Given the description of an element on the screen output the (x, y) to click on. 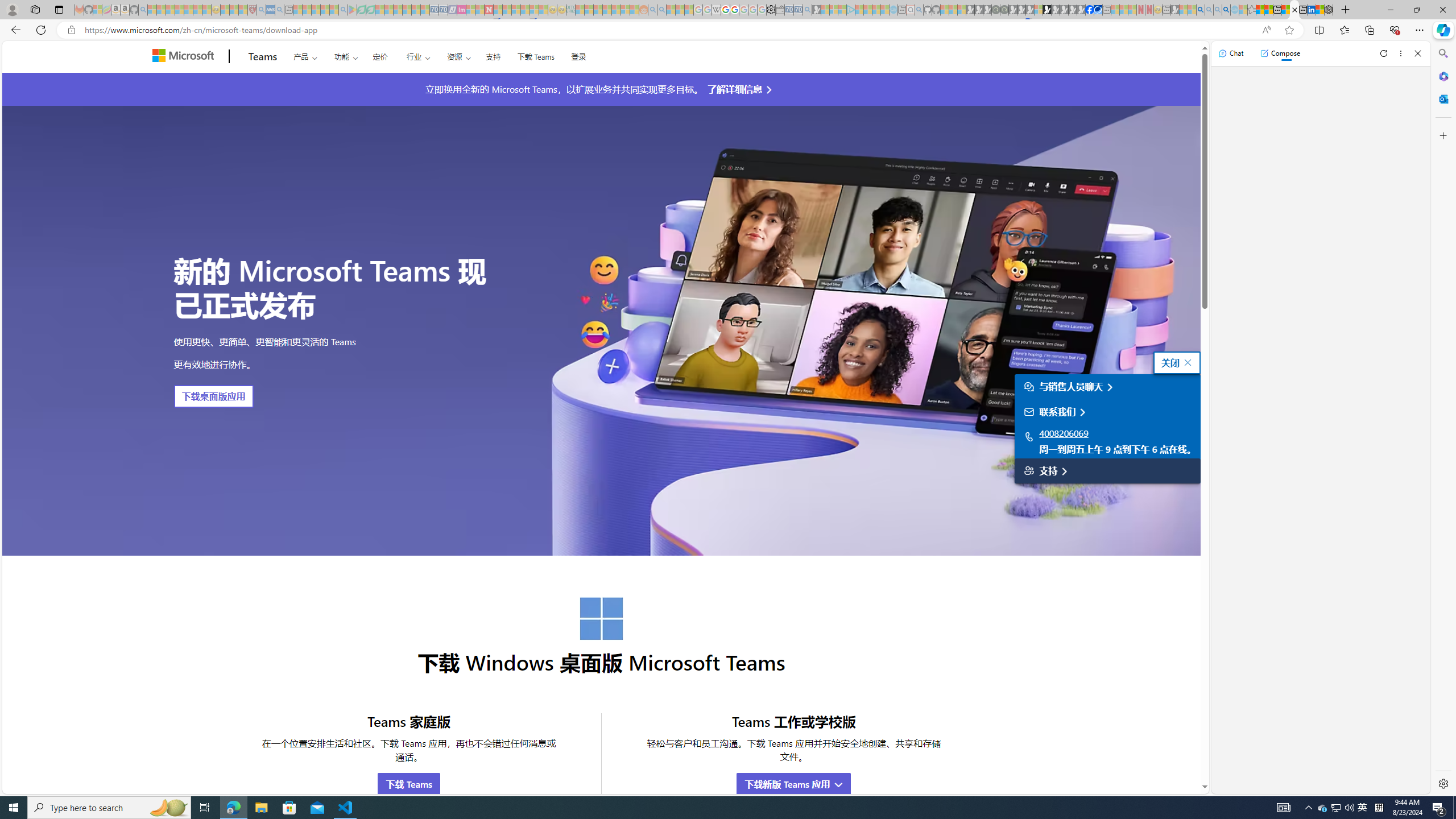
utah sues federal government - Search - Sleeping (279, 9)
